Given the description of an element on the screen output the (x, y) to click on. 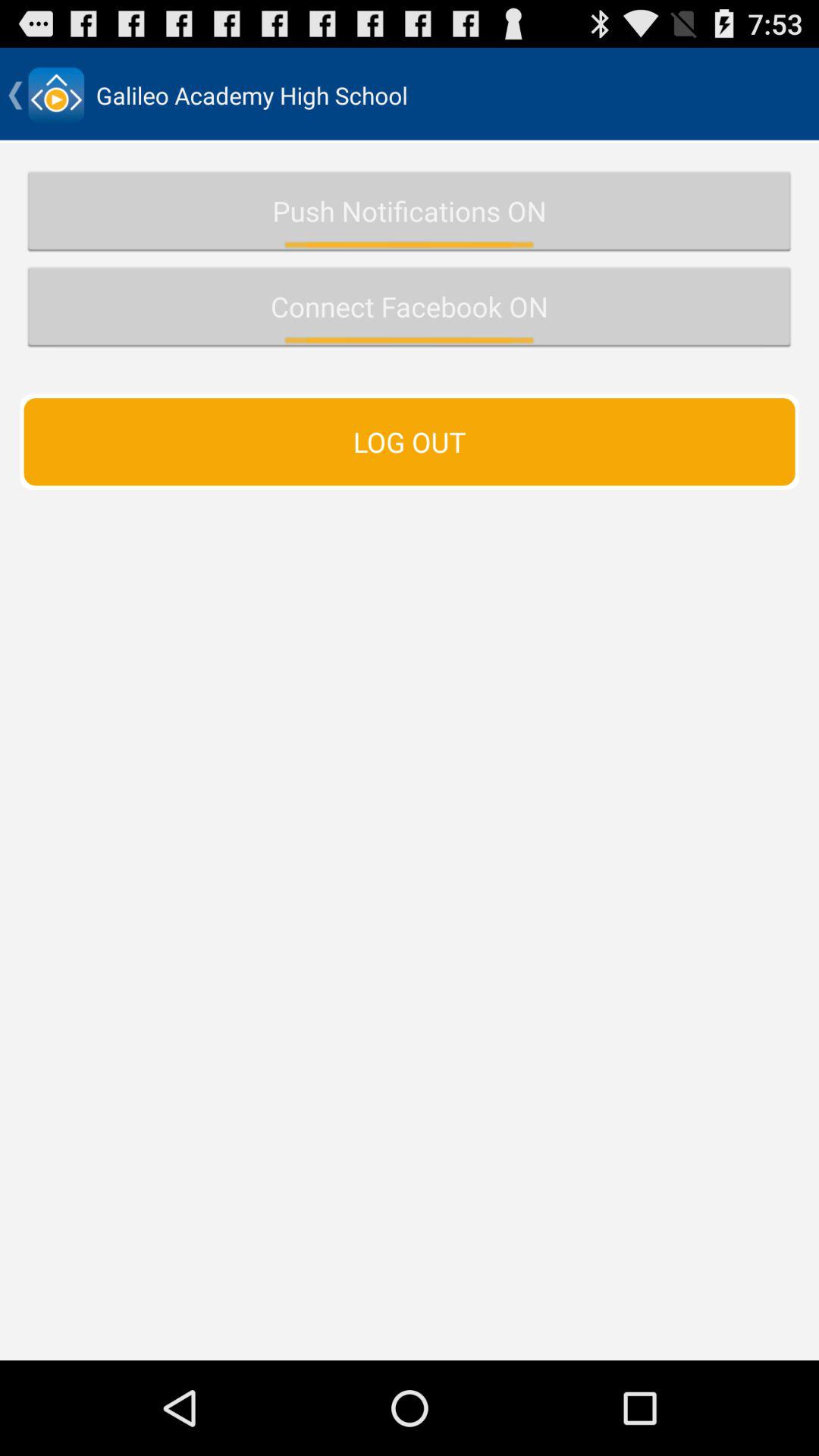
flip until connect facebook on icon (409, 306)
